Given the description of an element on the screen output the (x, y) to click on. 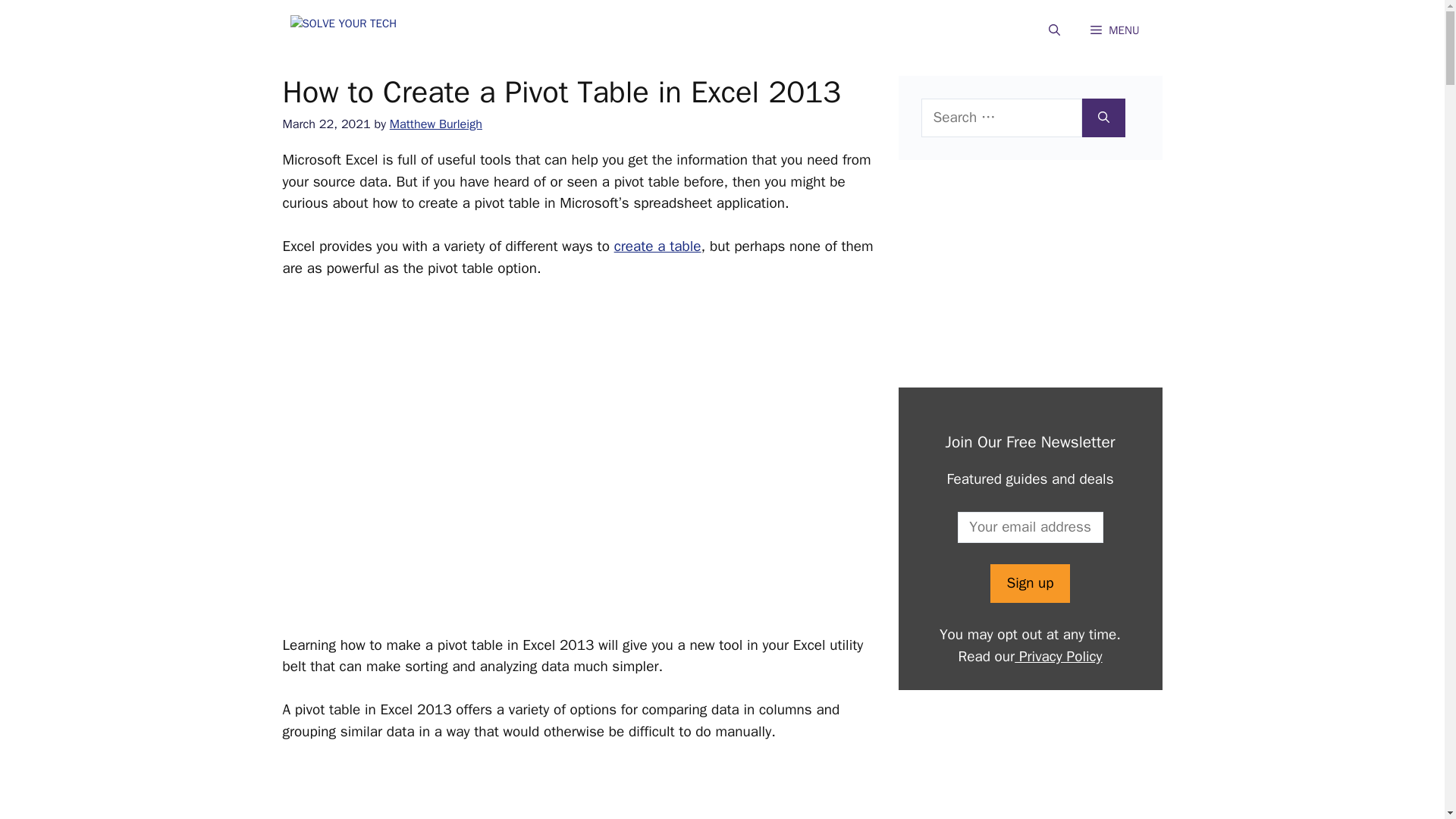
MENU (1114, 30)
Matthew Burleigh (435, 123)
create a table (657, 246)
Solve Your Tech (365, 30)
View all posts by Matthew Burleigh (435, 123)
Sign up (1029, 583)
